Given the description of an element on the screen output the (x, y) to click on. 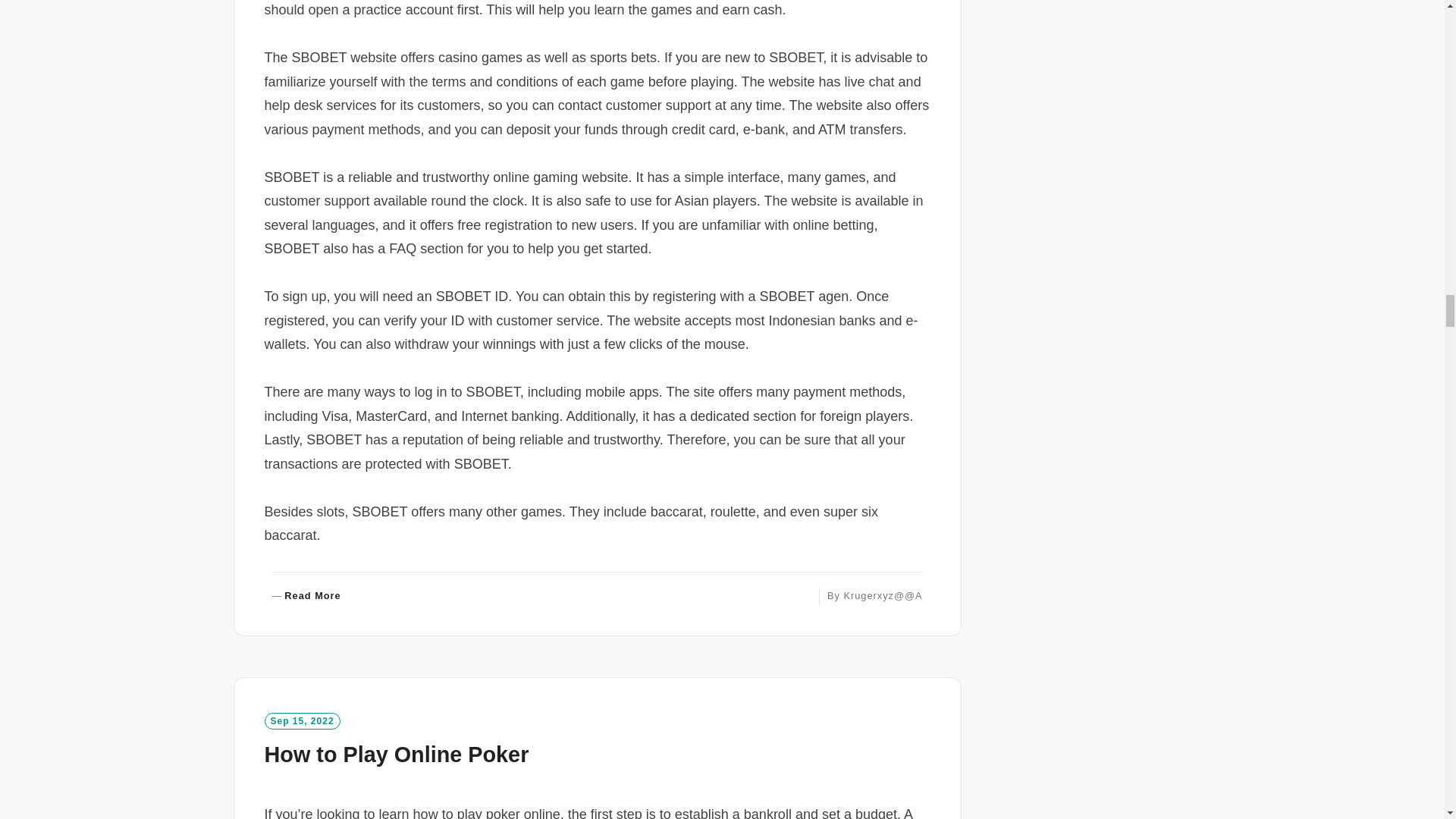
Sep 15, 2022 (301, 720)
How to Play Online Poker (395, 754)
